Given the description of an element on the screen output the (x, y) to click on. 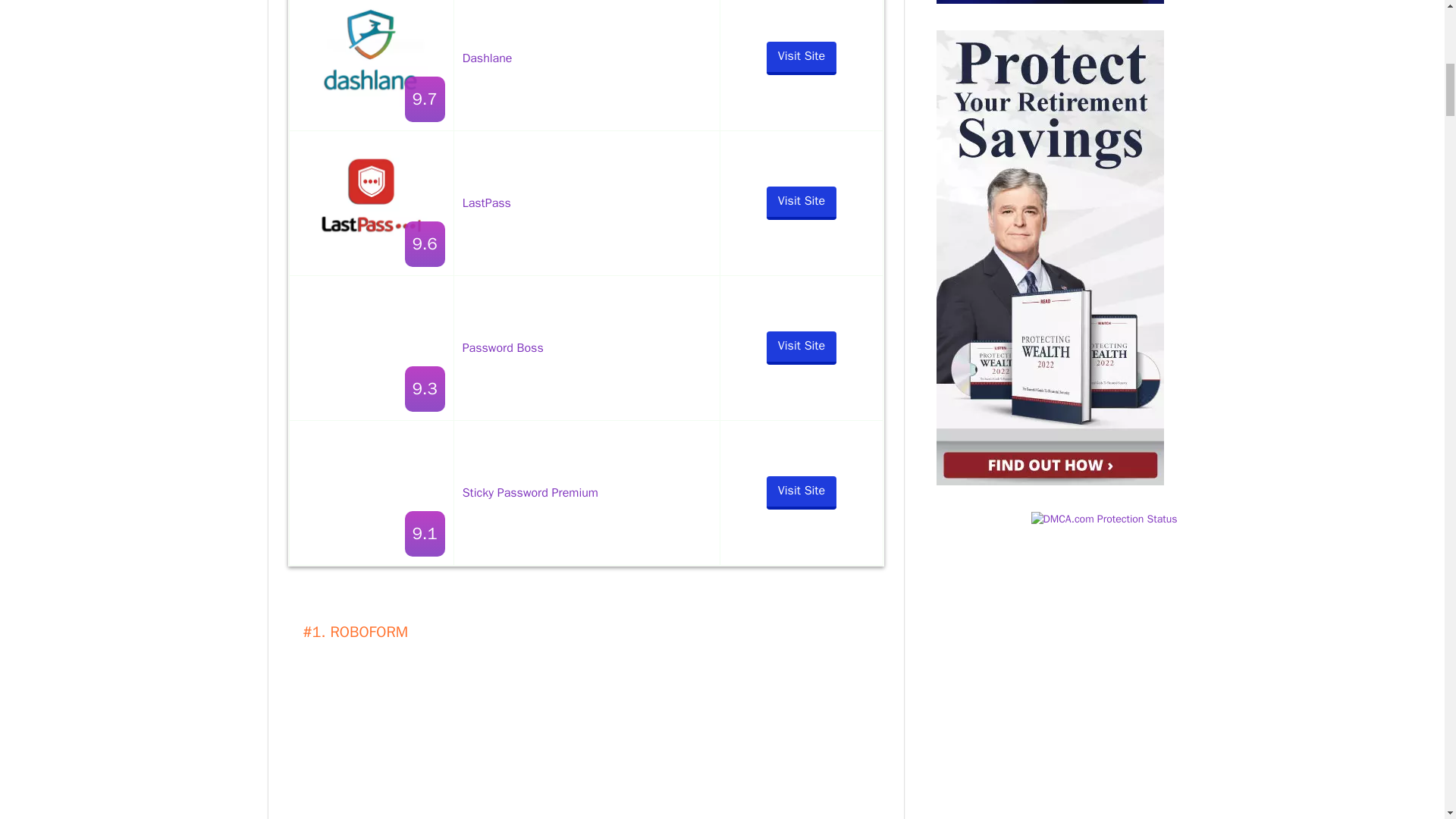
Visit Site (801, 202)
Visit Site (801, 347)
Password Boss (503, 347)
Dashlane (487, 58)
LastPass (487, 202)
Visit Site (801, 57)
Dashlane (371, 53)
Sticky Password Premium (530, 492)
Visit Site (801, 491)
LastPass (371, 195)
